Given the description of an element on the screen output the (x, y) to click on. 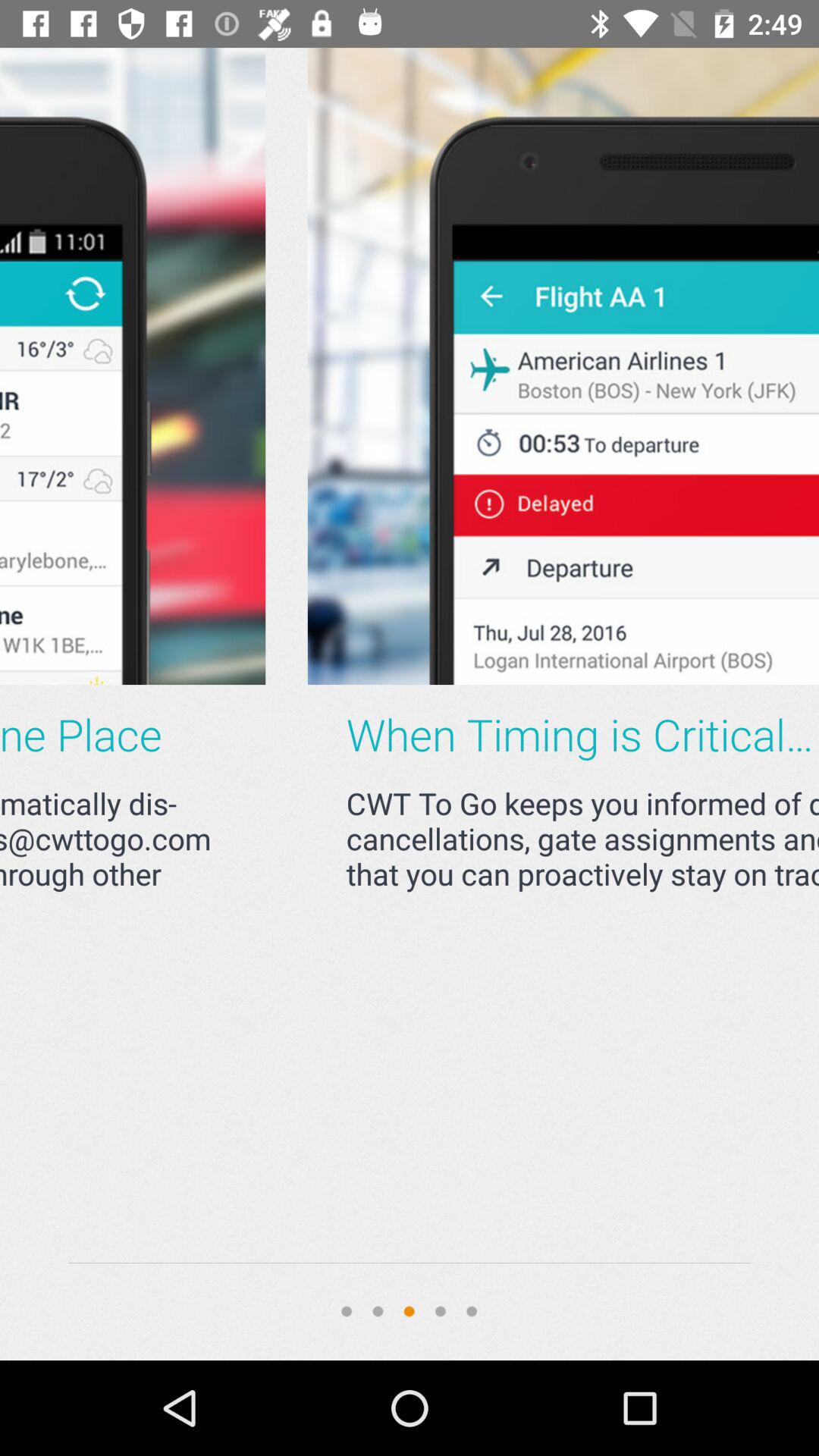
select delayed which is above departure on the page (368, 366)
select the third dot present at the bottom of page (409, 1311)
select first circle which is on the bottom of the page (346, 1311)
